Given the description of an element on the screen output the (x, y) to click on. 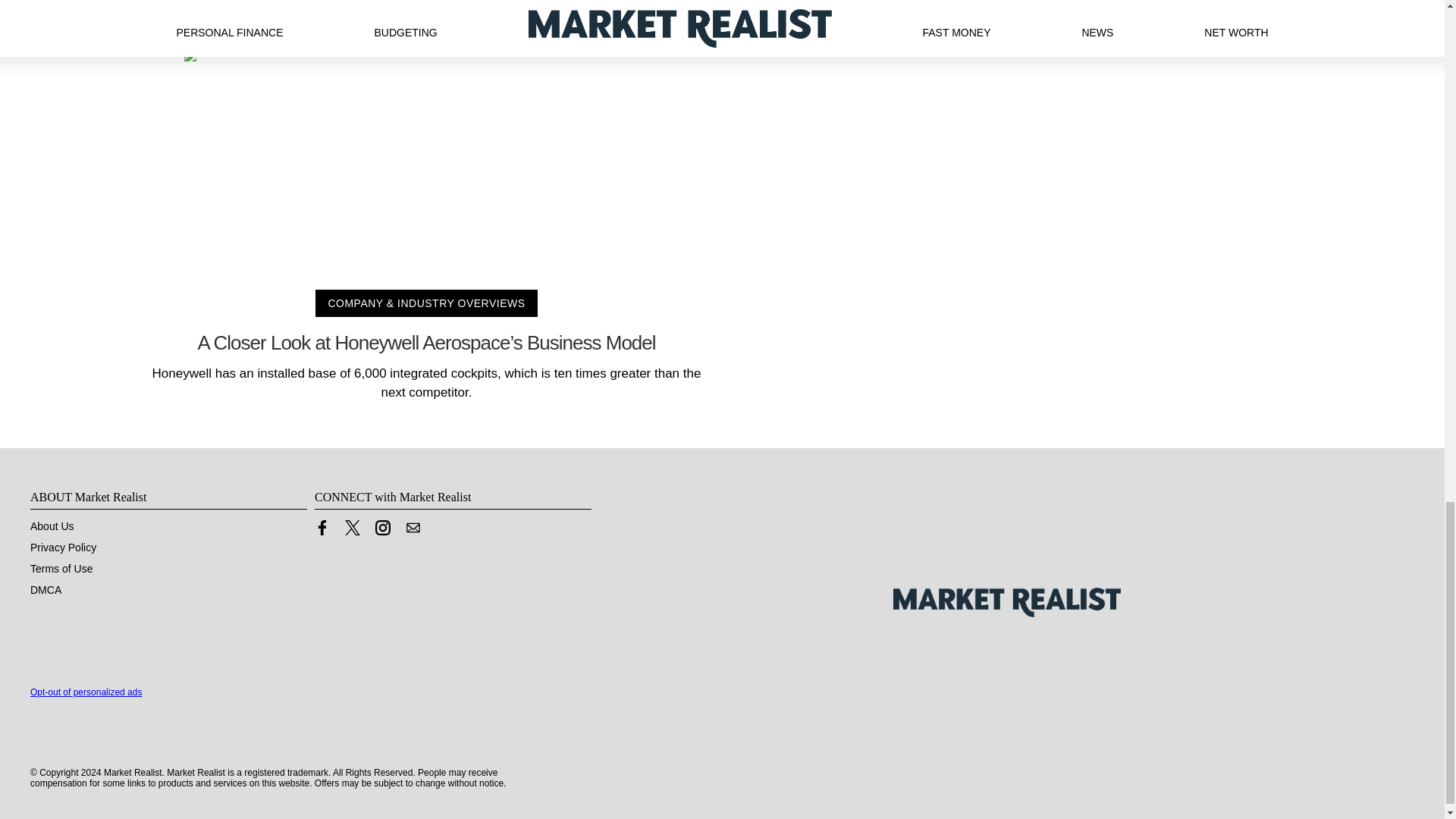
Link to Facebook (322, 531)
Link to Facebook (322, 527)
About Us (52, 526)
Privacy Policy (63, 547)
Link to X (352, 531)
Link to Instagram (382, 527)
Terms of Use (61, 568)
Privacy Policy (63, 547)
Contact us by Email (413, 527)
Contact us by Email (413, 531)
Link to Instagram (382, 531)
DMCA (45, 589)
Link to X (352, 527)
DMCA (45, 589)
